Given the description of an element on the screen output the (x, y) to click on. 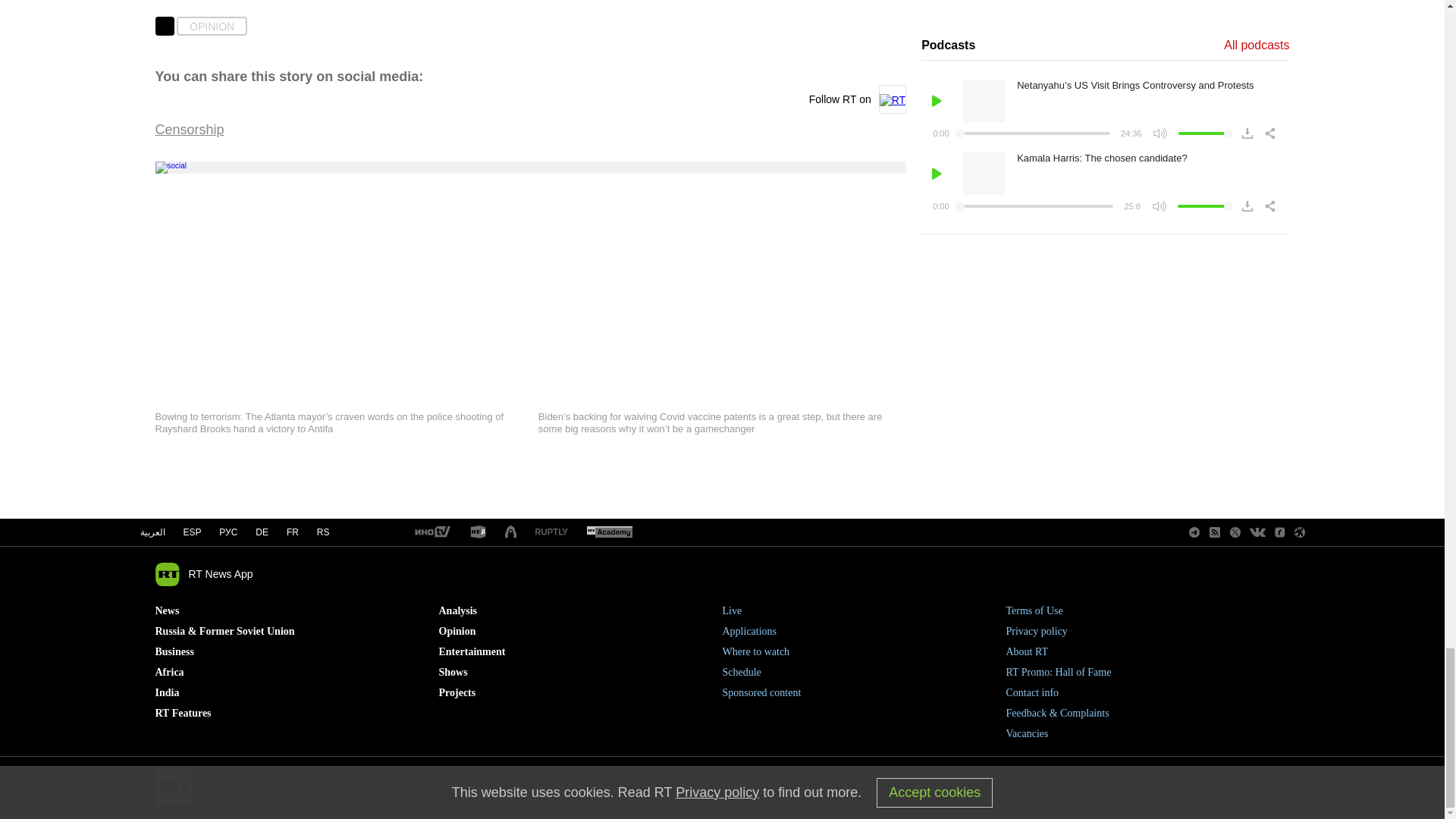
RT  (510, 532)
RT  (431, 532)
RT  (478, 532)
RT  (551, 532)
RT  (608, 532)
